Given the description of an element on the screen output the (x, y) to click on. 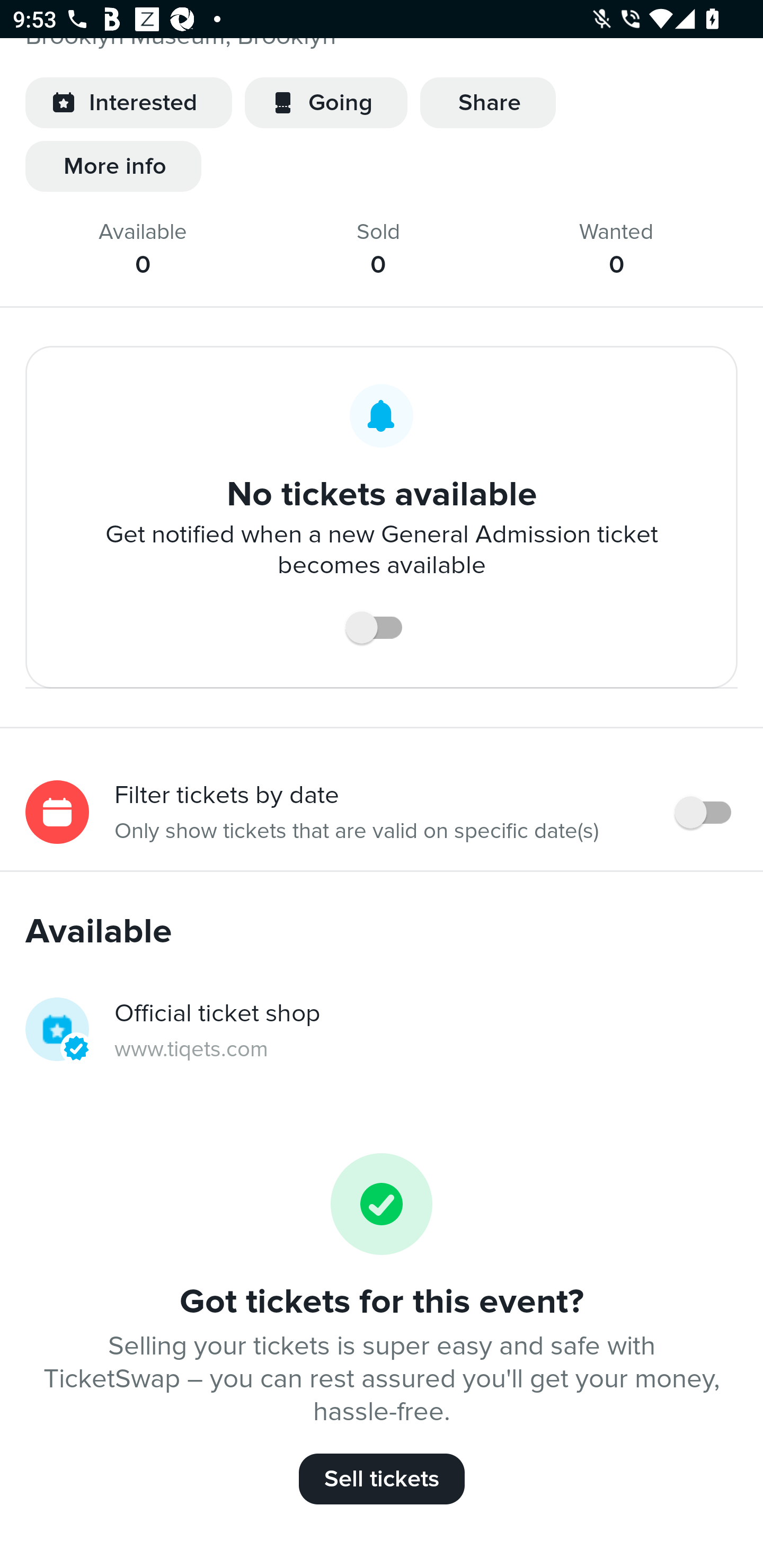
Interested (128, 102)
Going (325, 102)
Share (487, 102)
More info (113, 166)
Official ticket shop www.tiqets.com (381, 1030)
Sell tickets (381, 1478)
